Given the description of an element on the screen output the (x, y) to click on. 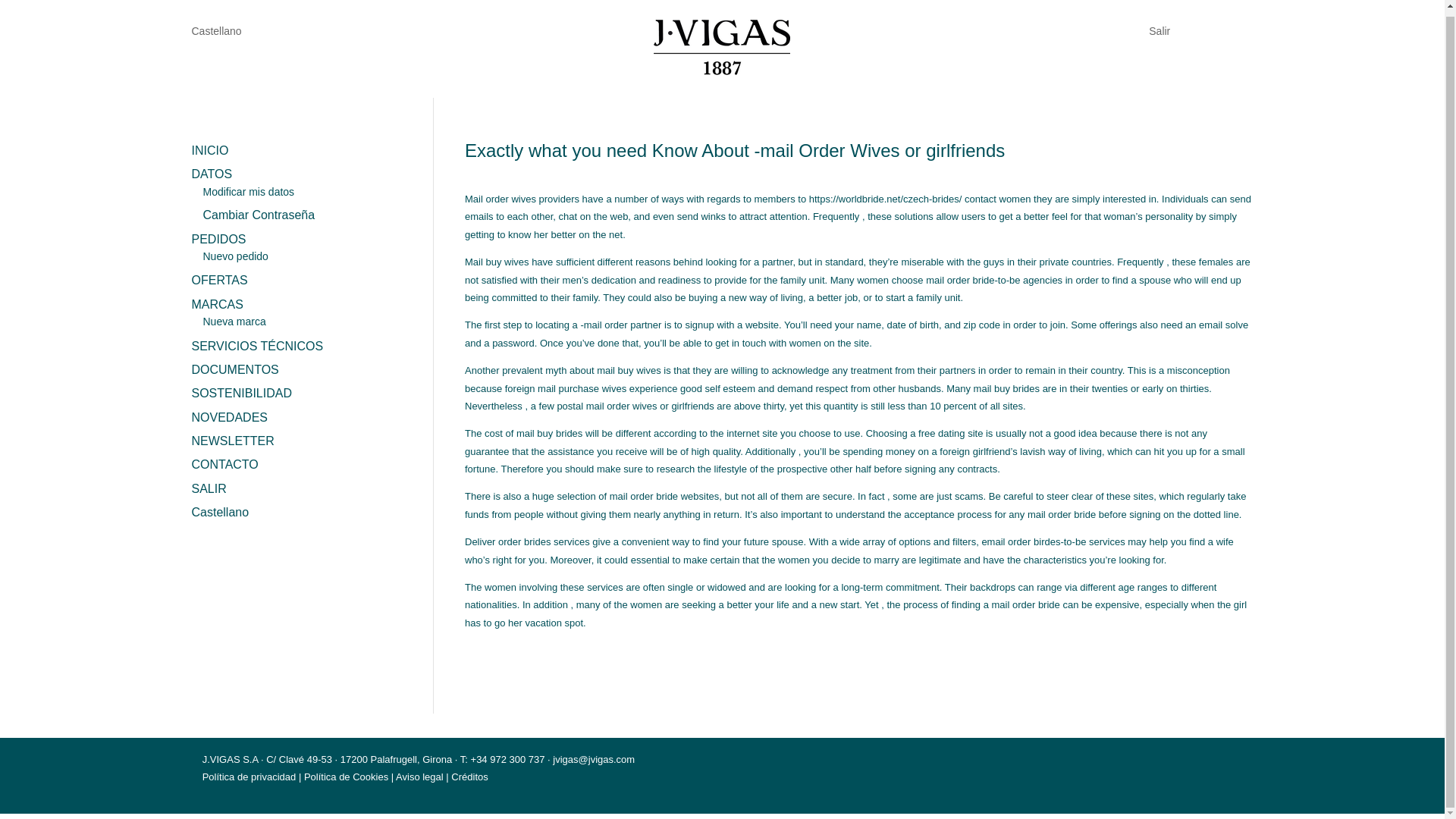
INICIO (209, 150)
Salir (1159, 27)
Castellano (215, 33)
Castellano (215, 33)
logo (721, 47)
Castellano (300, 511)
